Given the description of an element on the screen output the (x, y) to click on. 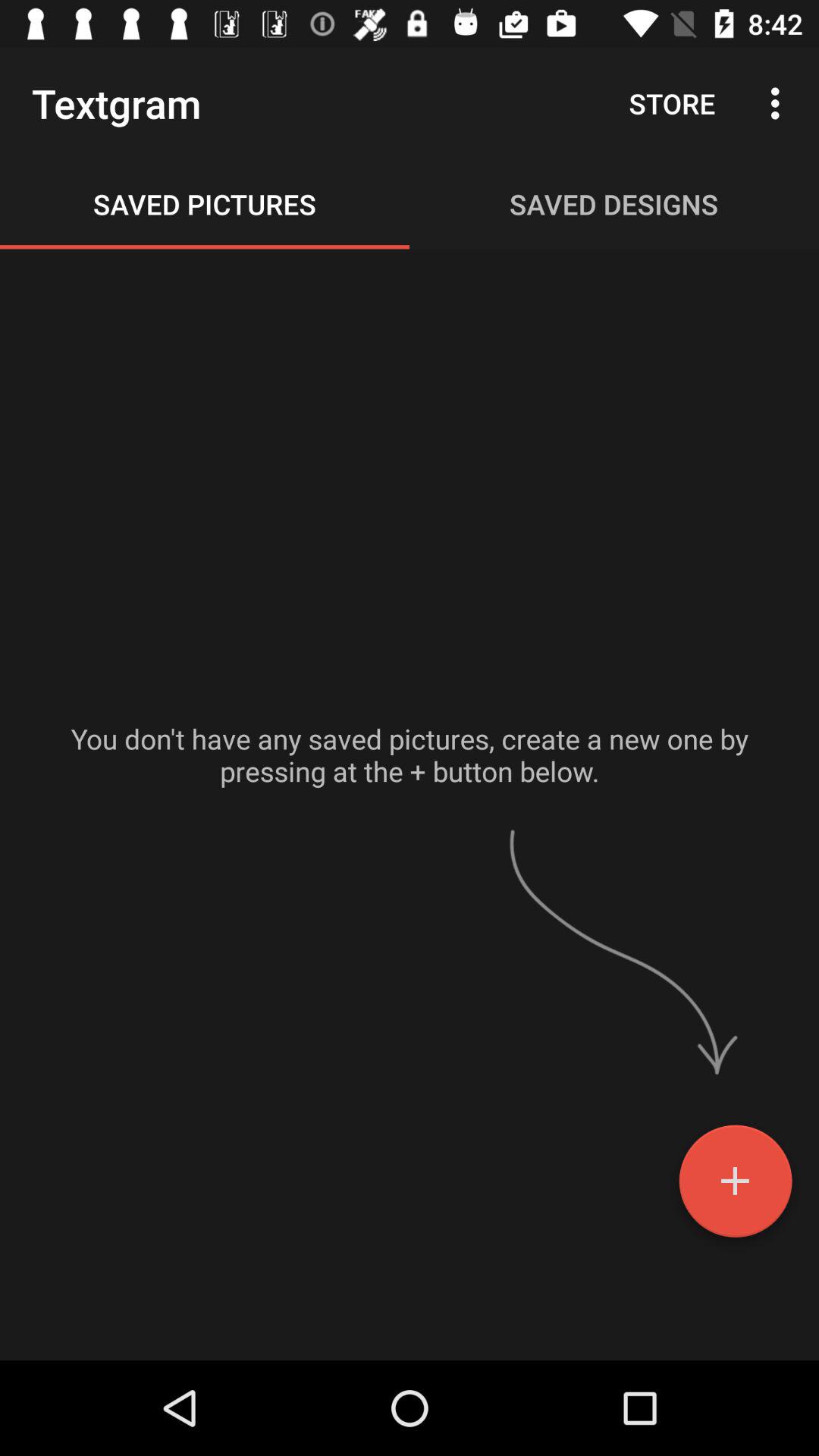
choose the store (672, 103)
